Given the description of an element on the screen output the (x, y) to click on. 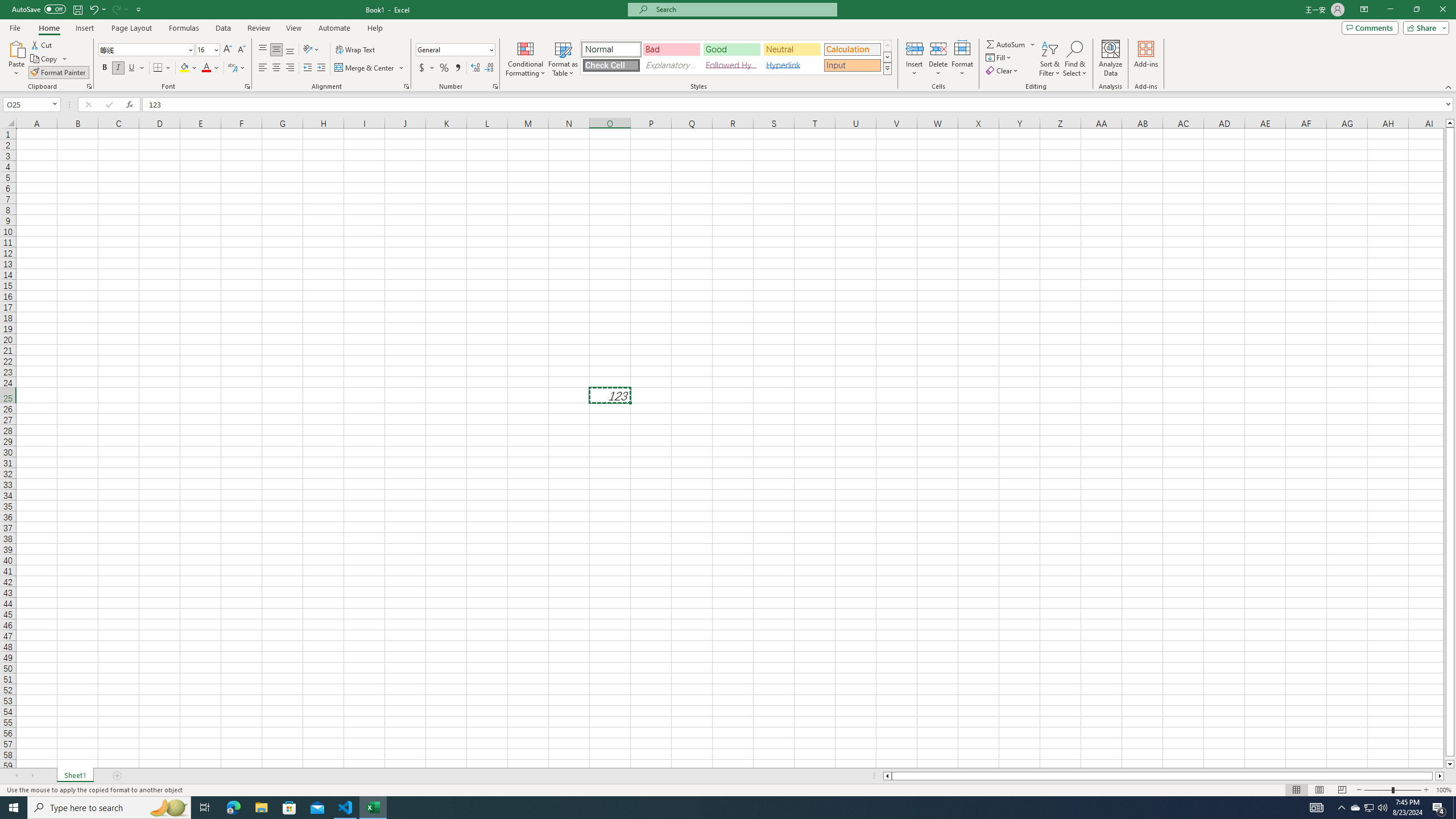
Italic (118, 67)
System (6, 6)
Underline (131, 67)
Merge & Center (365, 67)
Ribbon Display Options (1364, 9)
Hyperlink (791, 65)
Restore Down (1416, 9)
Check Cell (611, 65)
File Tab (15, 27)
Comments (1369, 27)
Collapse the Ribbon (1448, 86)
Page Layout (1318, 790)
Line up (1449, 122)
Neutral (791, 49)
Zoom Out (1377, 790)
